Given the description of an element on the screen output the (x, y) to click on. 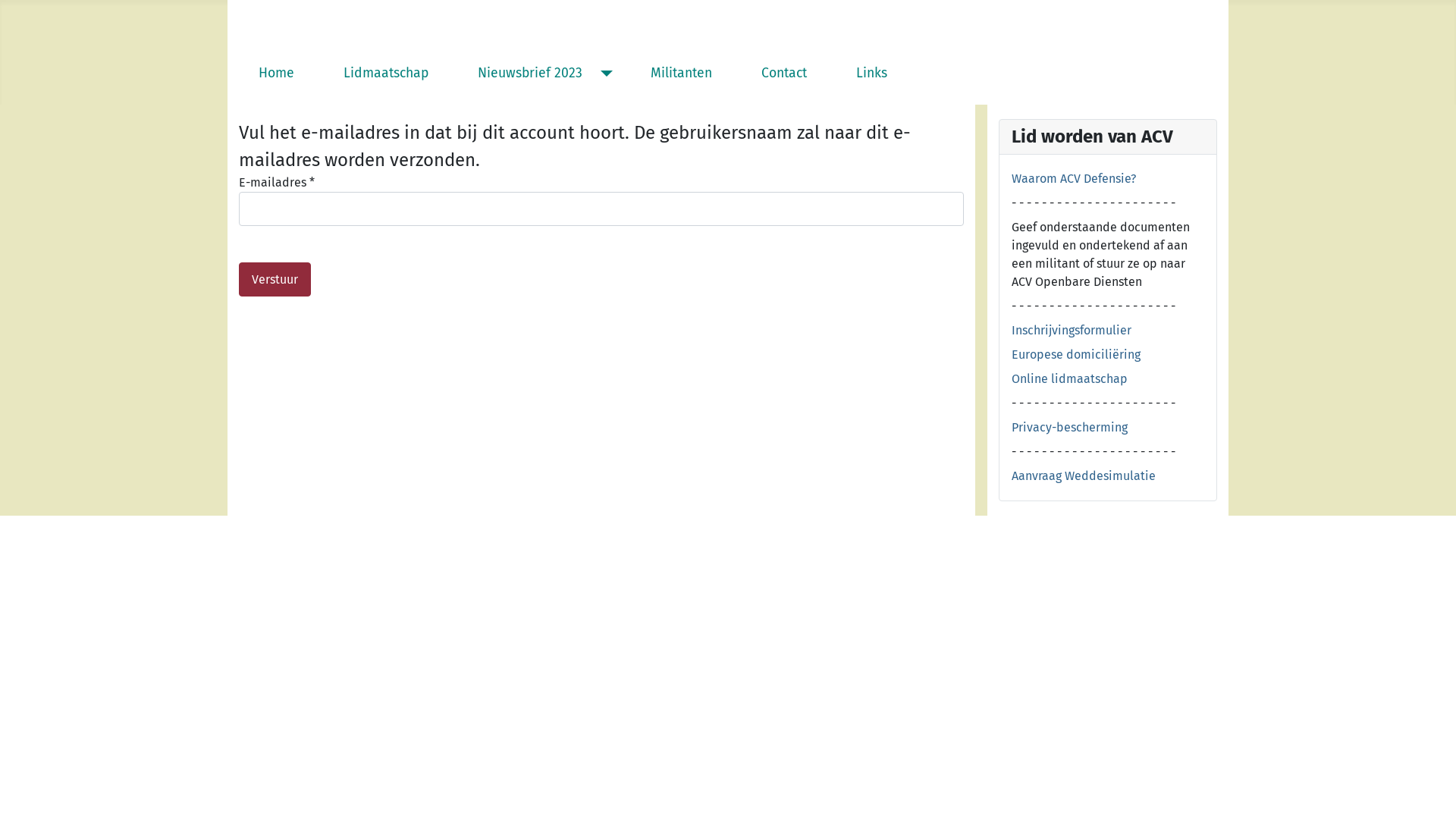
Online lidmaatschap Element type: text (1069, 378)
Privacy-bescherming Element type: text (1069, 427)
Lidmaatschap Element type: text (385, 73)
Militanten Element type: text (681, 73)
Verstuur Element type: text (274, 279)
Nieuwsbrief 2023 Element type: text (529, 73)
Aanvraag Weddesimulatie Element type: text (1083, 475)
Waarom ACV Defensie? Element type: text (1073, 178)
Links Element type: text (871, 73)
Inschrijvingsformulier Element type: text (1071, 330)
Home Element type: text (276, 73)
Contact Element type: text (783, 73)
